Given the description of an element on the screen output the (x, y) to click on. 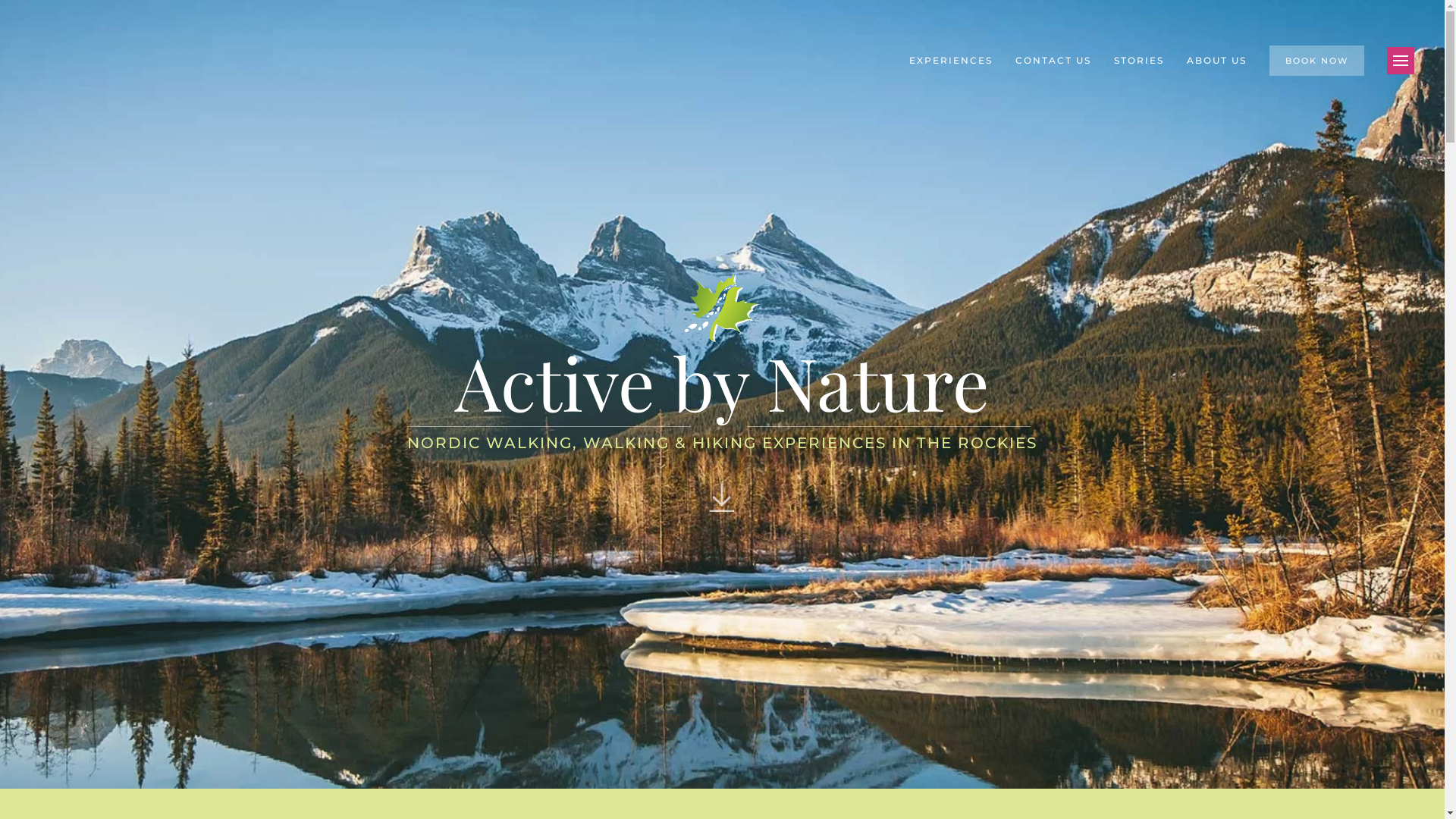
EXPERIENCES Element type: text (950, 60)
ABOUT US Element type: text (1216, 60)
STORIES Element type: text (1138, 60)
BOOK NOW Element type: text (1316, 60)
CONTACT US Element type: text (1053, 60)
